Given the description of an element on the screen output the (x, y) to click on. 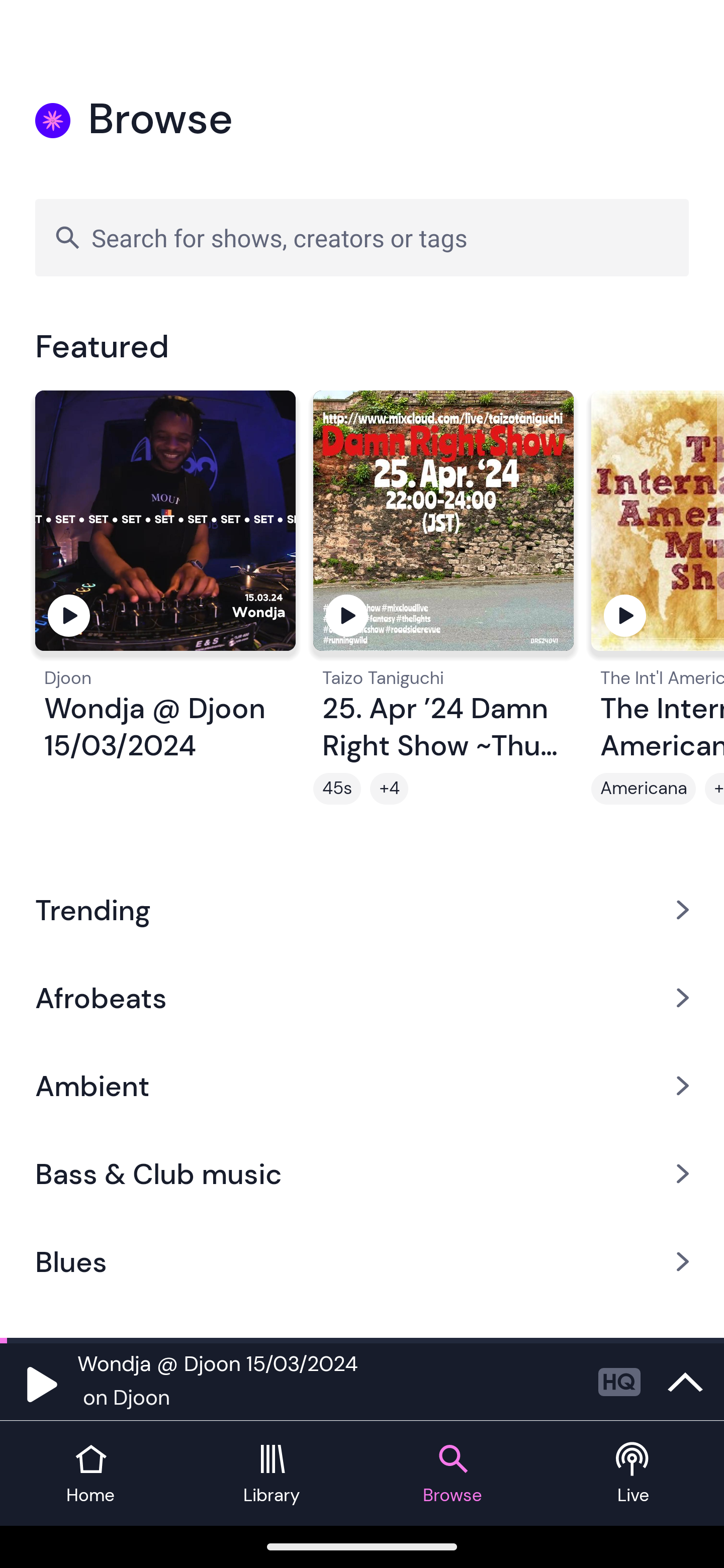
Search for shows, creators or tags (361, 237)
45s (337, 788)
Americana (643, 788)
Trending (361, 909)
Afrobeats (361, 997)
Ambient (361, 1085)
Bass & Club music (361, 1174)
Blues (361, 1262)
Home tab Home (90, 1473)
Library tab Library (271, 1473)
Browse tab Browse (452, 1473)
Live tab Live (633, 1473)
